Given the description of an element on the screen output the (x, y) to click on. 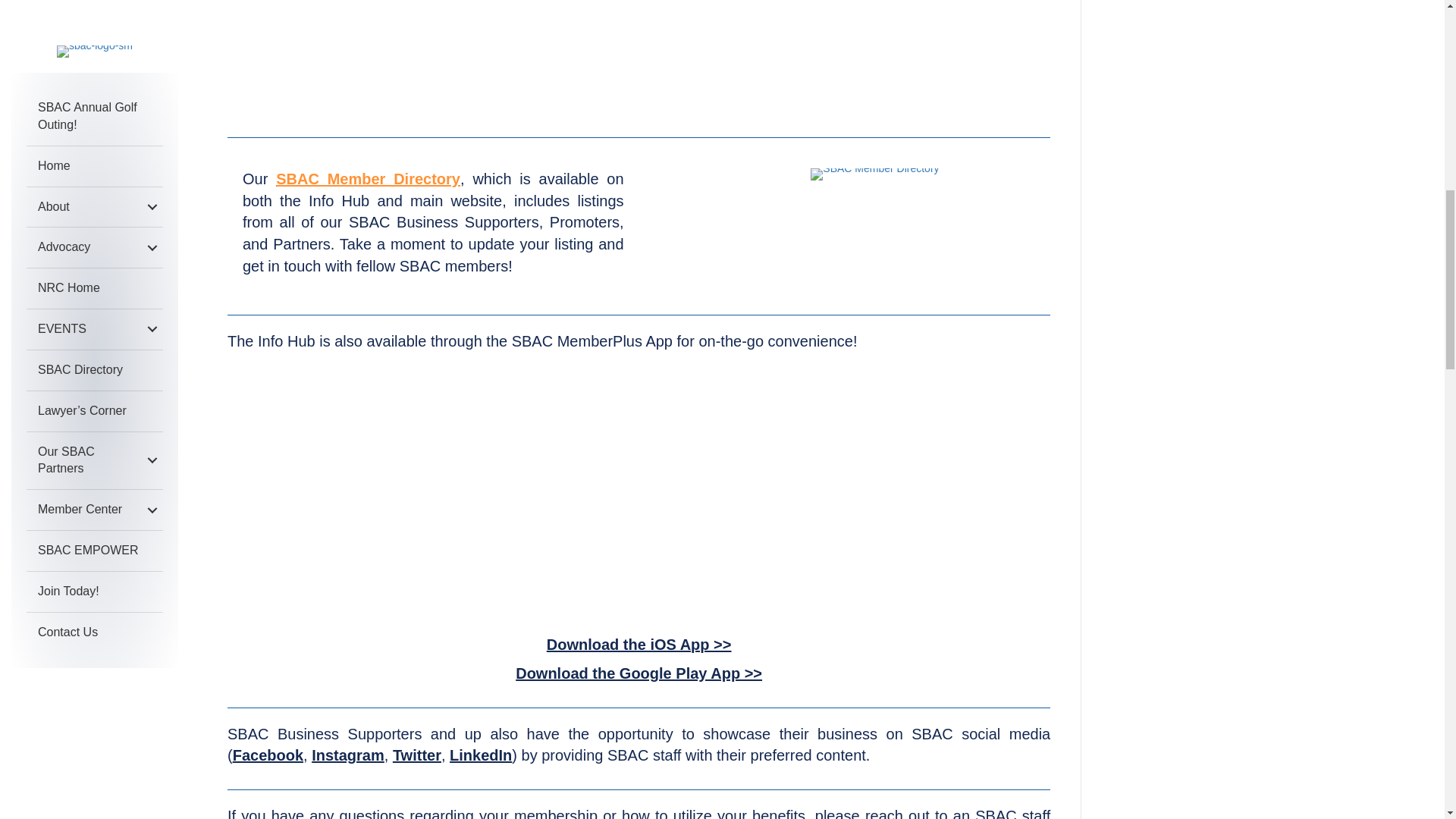
SBAC Member Directory (874, 174)
YouTube video player (638, 494)
